Given the description of an element on the screen output the (x, y) to click on. 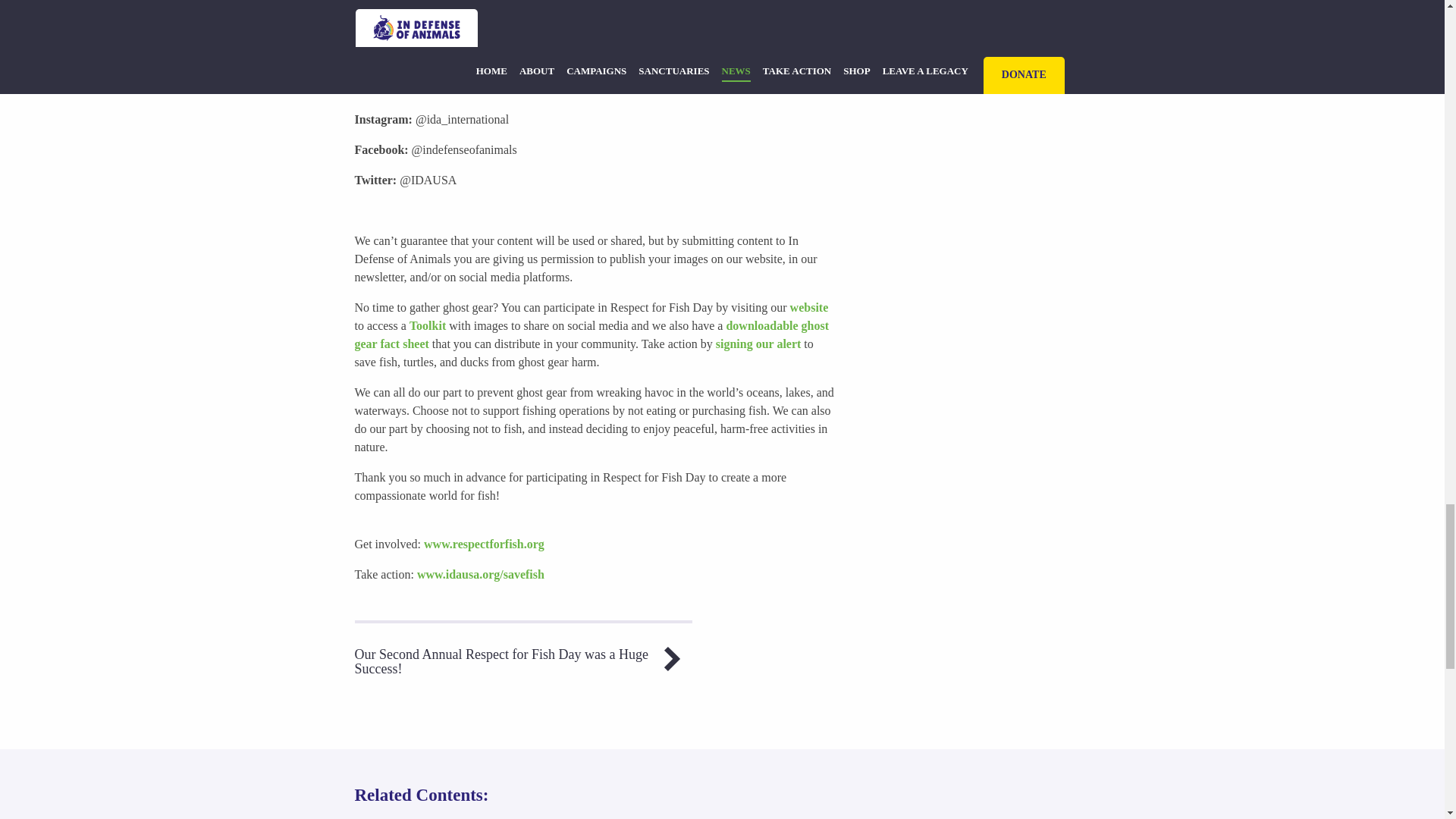
Our Second Annual Respect for Fish Day was a Huge Success! (524, 658)
website (809, 307)
www.respectforfish.org (483, 543)
Toolkit (427, 325)
downloadable ghost gear fact sheet (592, 334)
signing our alert (759, 343)
